Given the description of an element on the screen output the (x, y) to click on. 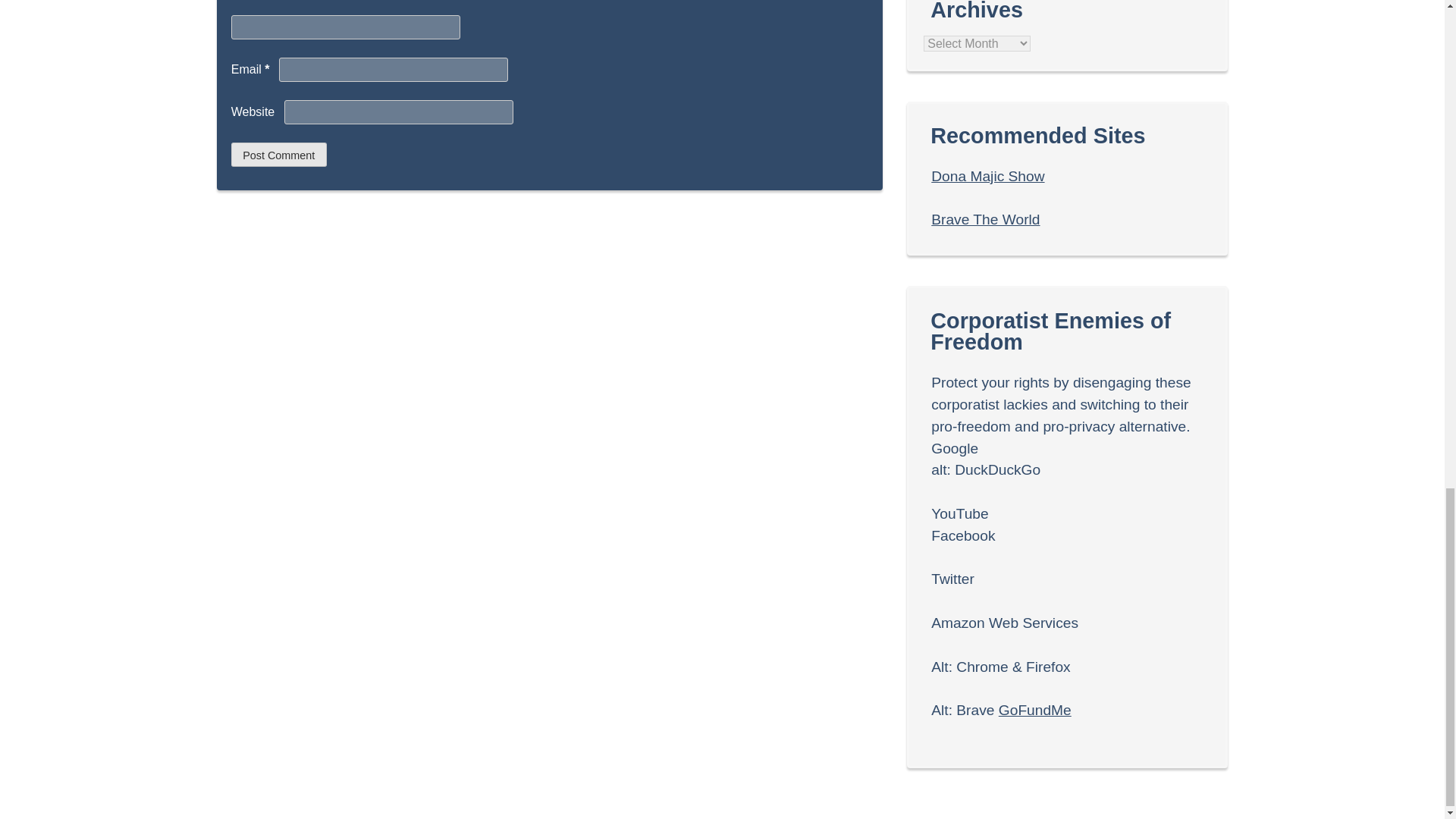
Dona Majic Show (987, 176)
Brave The World (985, 219)
Post Comment (278, 154)
Post Comment (278, 154)
GoFundMe (1034, 709)
